Given the description of an element on the screen output the (x, y) to click on. 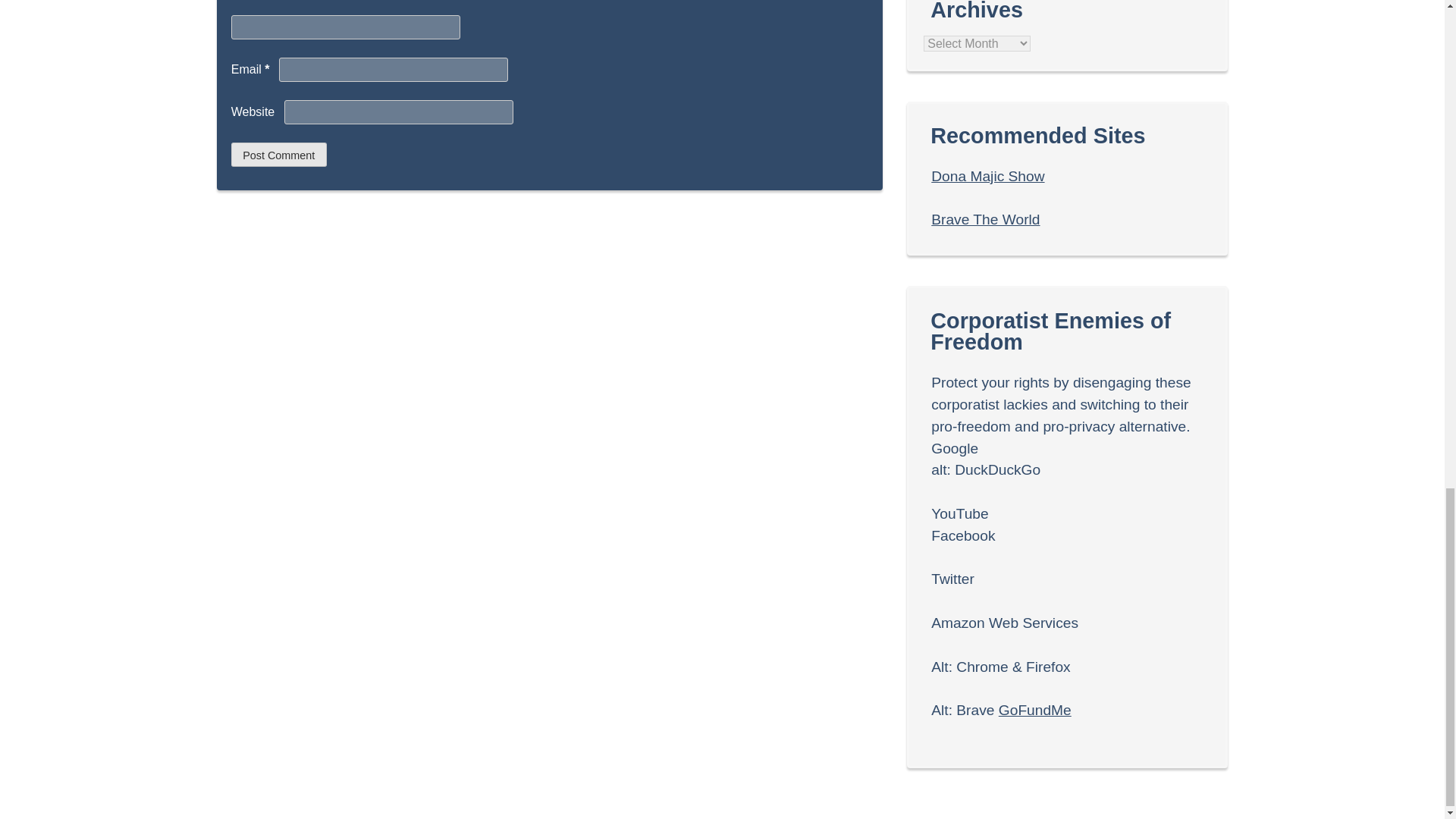
Dona Majic Show (987, 176)
Brave The World (985, 219)
Post Comment (278, 154)
Post Comment (278, 154)
GoFundMe (1034, 709)
